Given the description of an element on the screen output the (x, y) to click on. 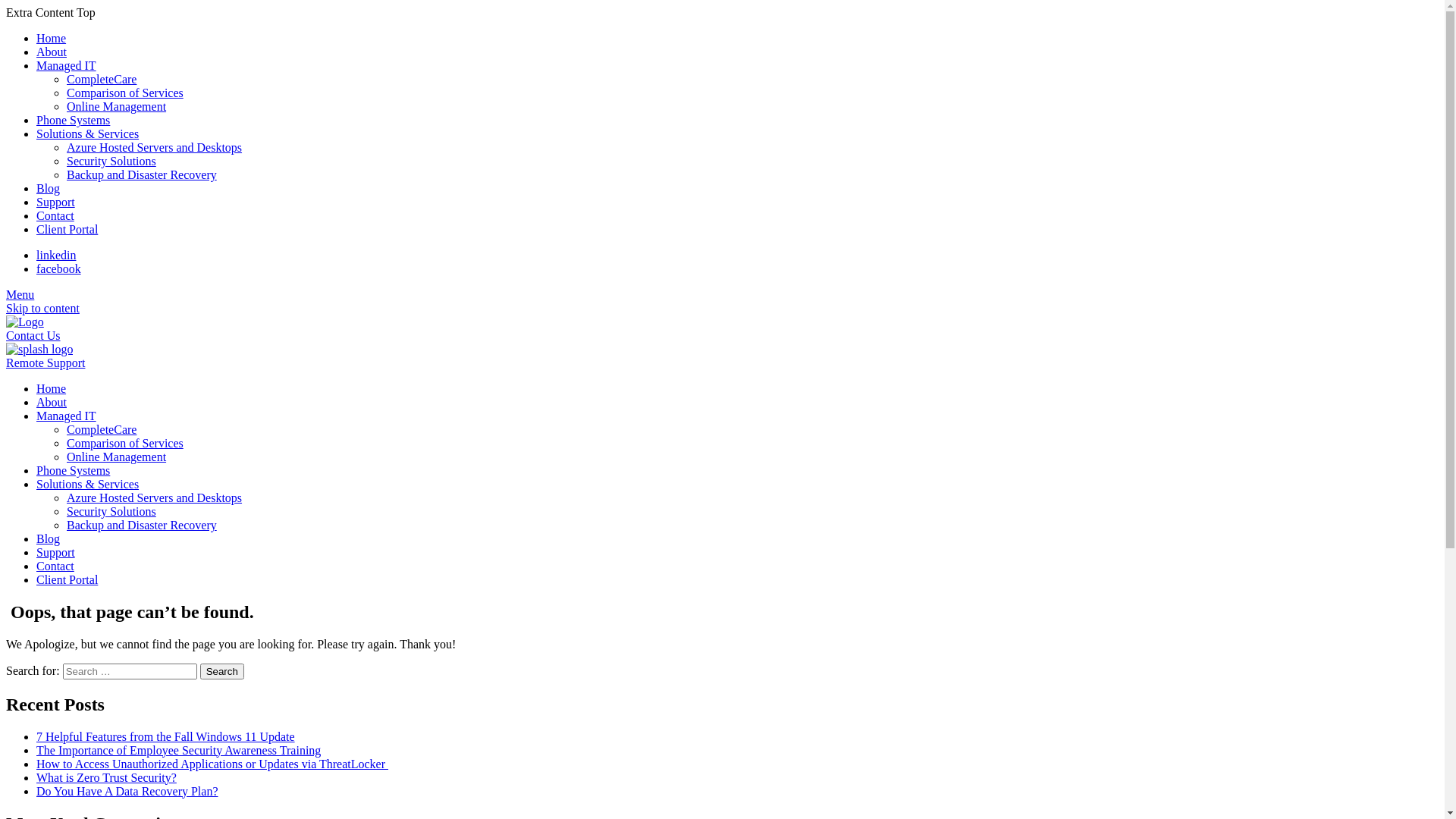
Online Management Element type: text (116, 106)
Support Element type: text (55, 201)
facebook Element type: text (58, 268)
What is Zero Trust Security? Element type: text (106, 777)
Security Solutions Element type: text (111, 511)
Contact Element type: text (55, 215)
Solutions & Services Element type: text (87, 483)
7 Helpful Features from the Fall Windows 11 Update Element type: text (165, 736)
Contact Us Element type: text (33, 335)
Azure Hosted Servers and Desktops Element type: text (153, 497)
About Element type: text (51, 51)
Client Portal Element type: text (66, 228)
Managed IT Element type: text (66, 415)
Phone Systems Element type: text (72, 119)
CompleteCare Element type: text (101, 78)
Contact Element type: text (55, 565)
About Element type: text (51, 401)
Backup and Disaster Recovery Element type: text (141, 524)
Client Portal Element type: text (66, 579)
Blog Element type: text (47, 538)
The Importance of Employee Security Awareness Training Element type: text (178, 749)
Remote Support Element type: text (45, 355)
Azure Hosted Servers and Desktops Element type: text (153, 147)
Online Management Element type: text (116, 456)
Home Element type: text (50, 388)
Solutions & Services Element type: text (87, 133)
Search Element type: text (222, 671)
Menu Element type: text (20, 294)
Skip to content Element type: text (42, 307)
Security Solutions Element type: text (111, 160)
Managed IT Element type: text (66, 65)
Support Element type: text (55, 552)
linkedin Element type: text (55, 254)
Comparison of Services Element type: text (124, 92)
CompleteCare Element type: text (101, 429)
Comparison of Services Element type: text (124, 442)
Phone Systems Element type: text (72, 470)
Blog Element type: text (47, 188)
Backup and Disaster Recovery Element type: text (141, 174)
Do You Have A Data Recovery Plan? Element type: text (127, 790)
Home Element type: text (50, 37)
